Given the description of an element on the screen output the (x, y) to click on. 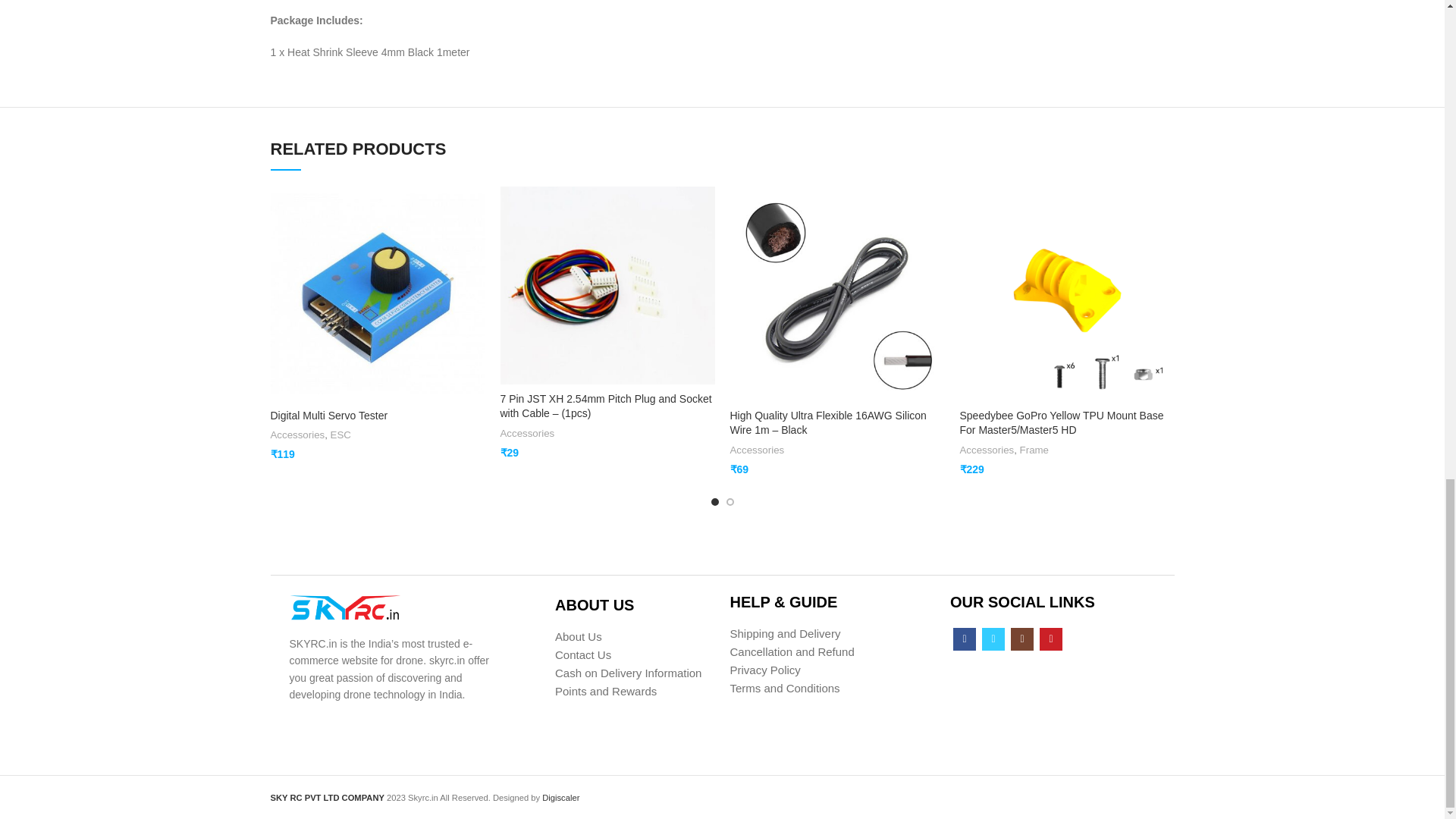
13 (344, 606)
